Given the description of an element on the screen output the (x, y) to click on. 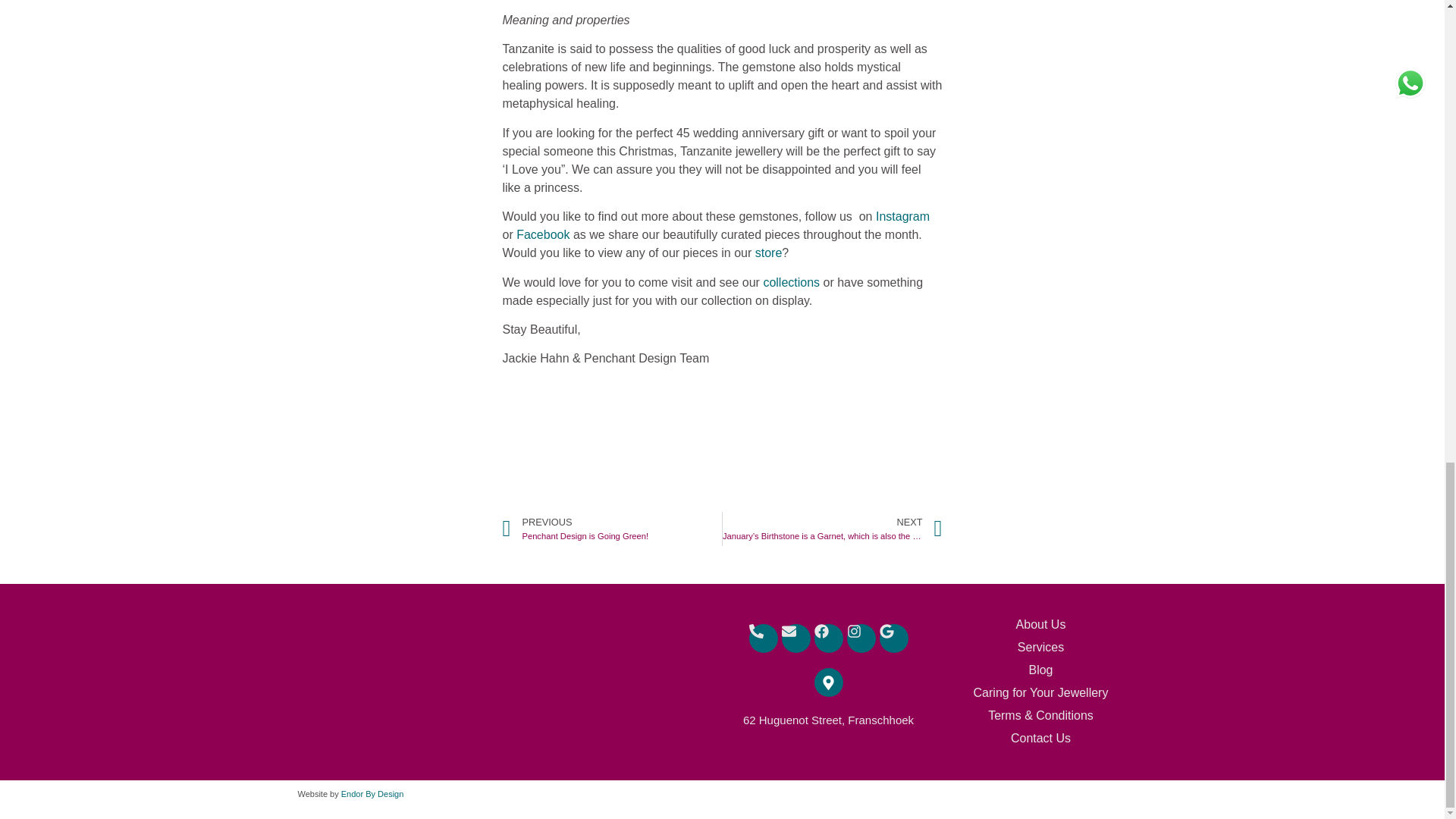
62 Huguenot Street, Franschhoek (828, 719)
Contact Us (1040, 738)
collections (612, 528)
store (790, 282)
Facebook (766, 252)
About Us (542, 234)
Caring for Your Jewellery (1040, 624)
Instagram (1040, 692)
Blog (903, 215)
